Given the description of an element on the screen output the (x, y) to click on. 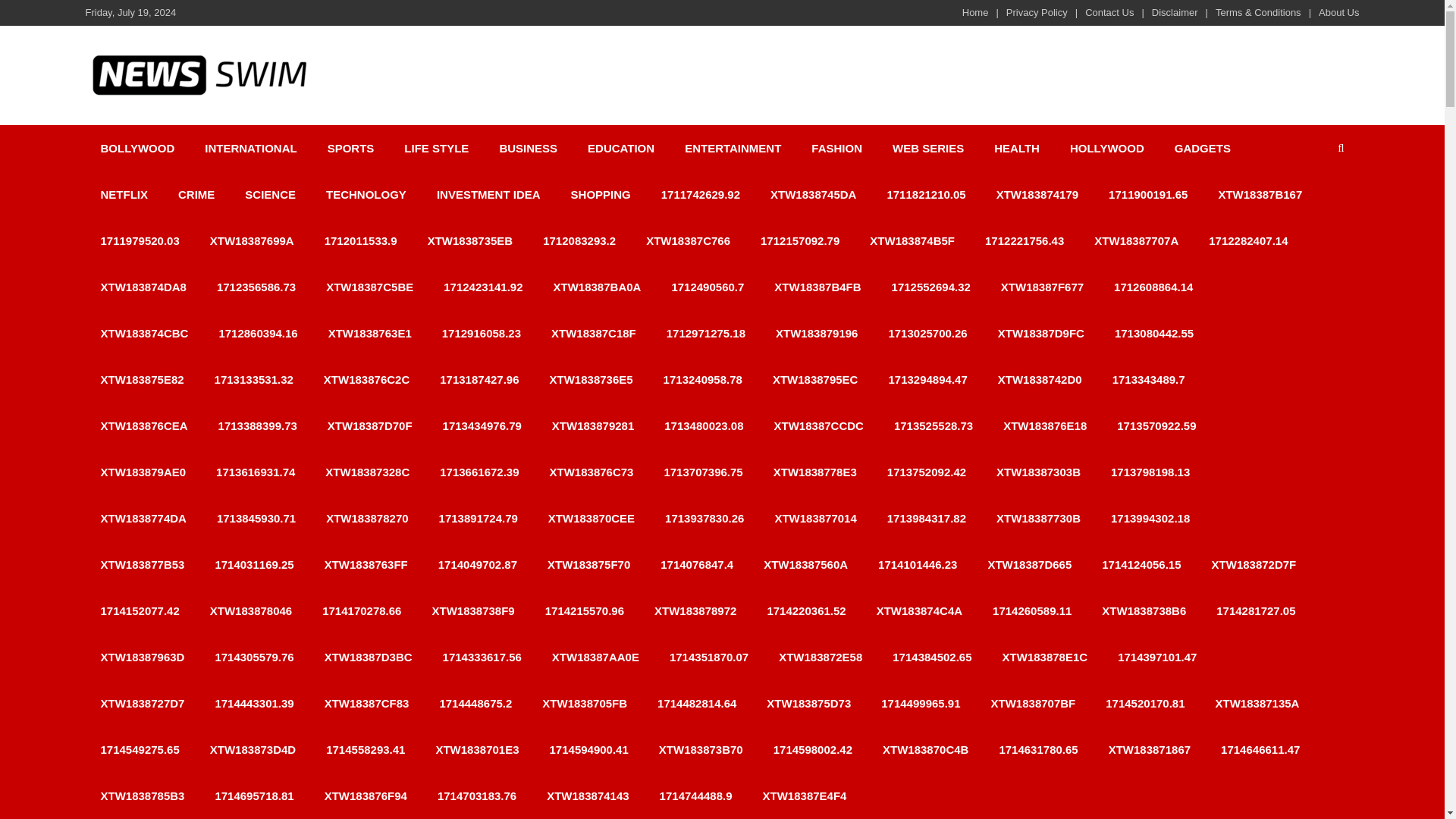
Home (975, 12)
XTW183874179 (1037, 194)
BOLLYWOOD (136, 148)
XTW18387699A (251, 240)
LIFE STYLE (435, 148)
WEB SERIES (927, 148)
SCIENCE (270, 194)
INTERNATIONAL (250, 148)
About Us (1338, 12)
HEALTH (1016, 148)
ENTERTAINMENT (732, 148)
XTW18387B167 (1259, 194)
TECHNOLOGY (366, 194)
BUSINESS (527, 148)
Contact Us (1109, 12)
